Given the description of an element on the screen output the (x, y) to click on. 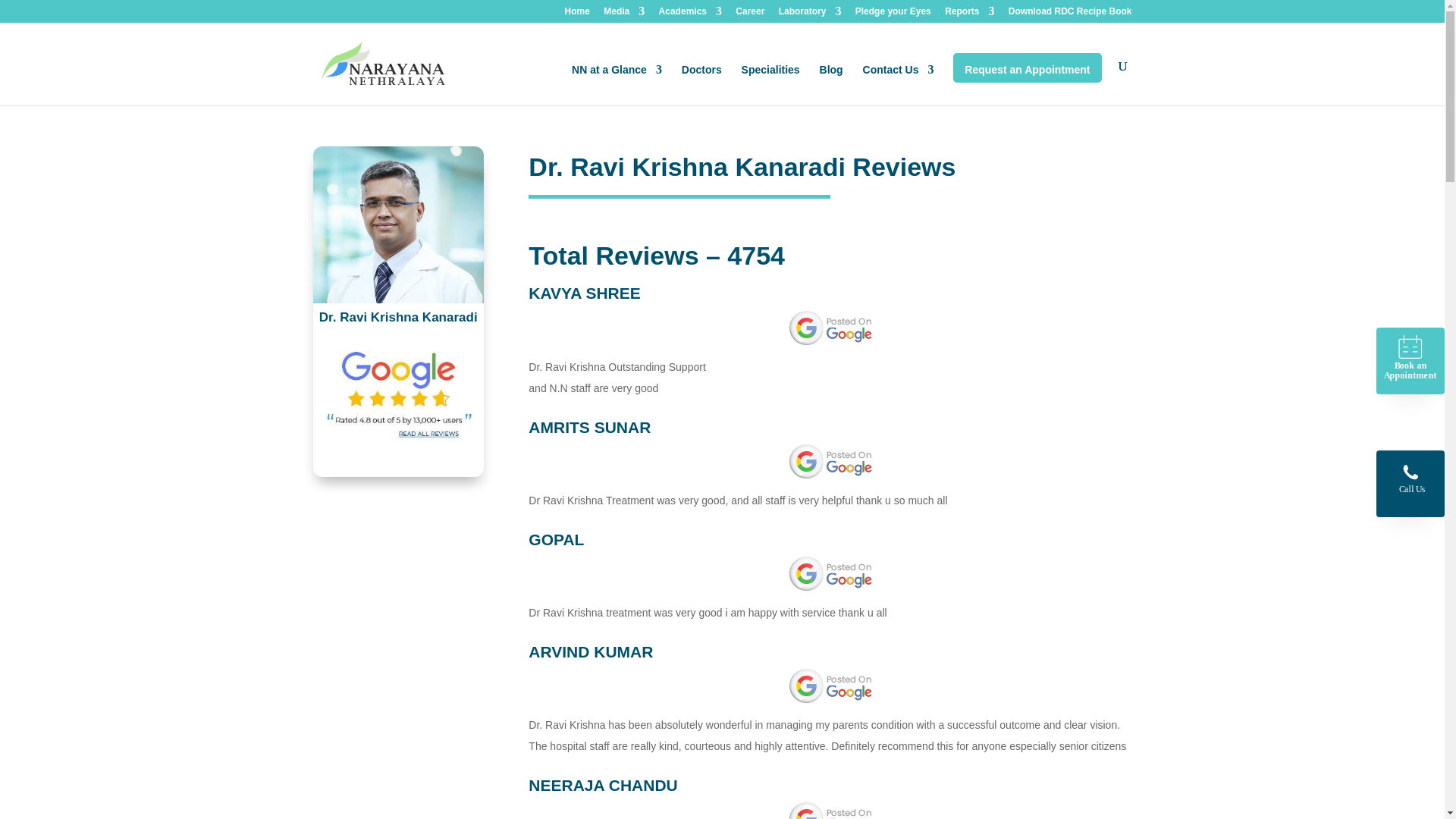
Academics (690, 14)
Pledge your Eyes (893, 14)
Google-Rating (398, 394)
Specialities (770, 84)
Doctors (701, 84)
Laboratory (809, 14)
NN at a Glance (617, 84)
Media (624, 14)
Reports (969, 14)
Career (749, 14)
